Given the description of an element on the screen output the (x, y) to click on. 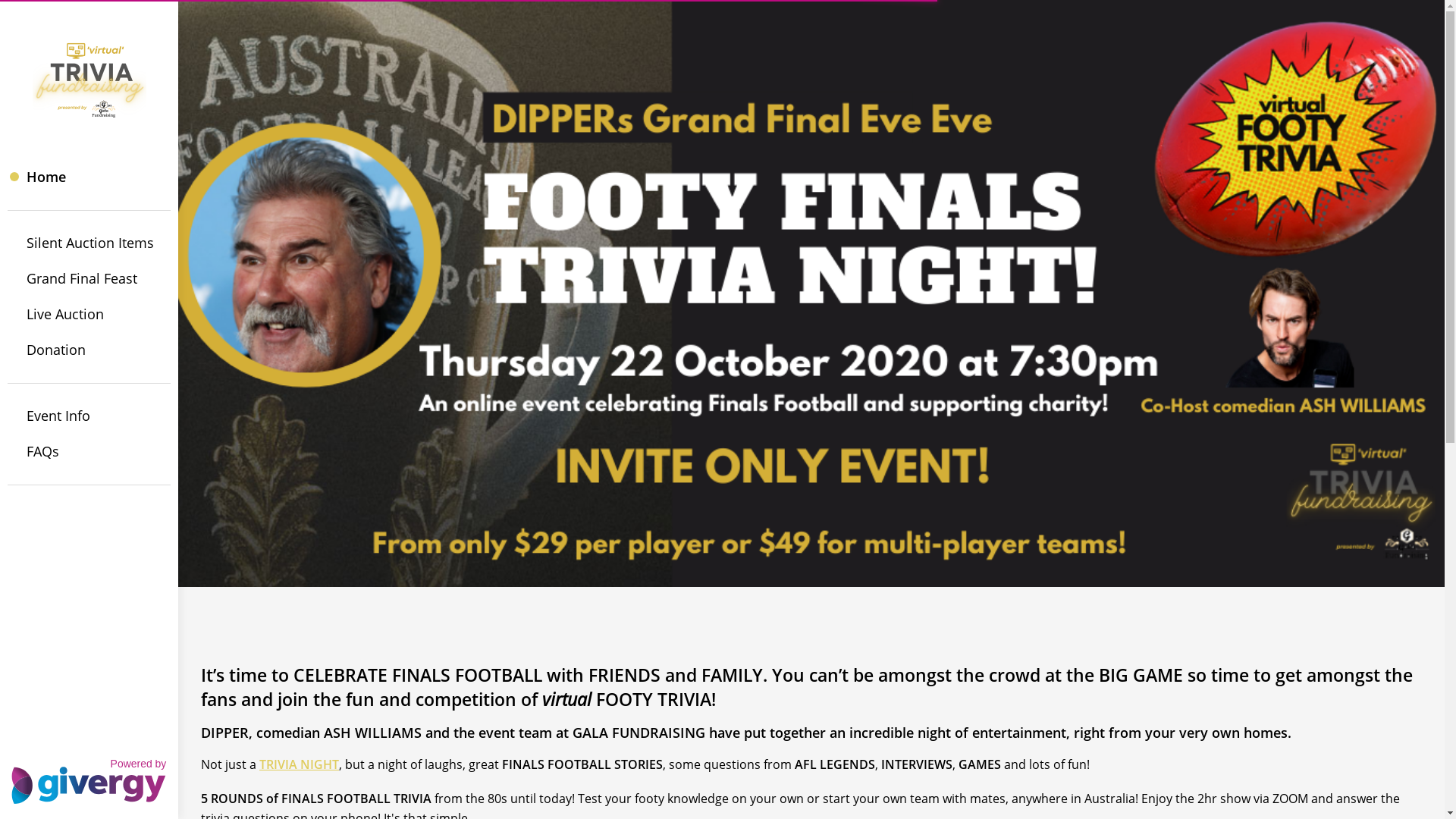
TRIVIA NIGHT Element type: text (298, 764)
Live Auction Element type: text (89, 314)
Event Info Element type: text (89, 415)
Home Element type: text (89, 176)
Silent Auction Items Element type: text (89, 242)
Donation Element type: text (89, 349)
Grand Final Feast Element type: text (89, 278)
FAQs Element type: text (89, 451)
